Given the description of an element on the screen output the (x, y) to click on. 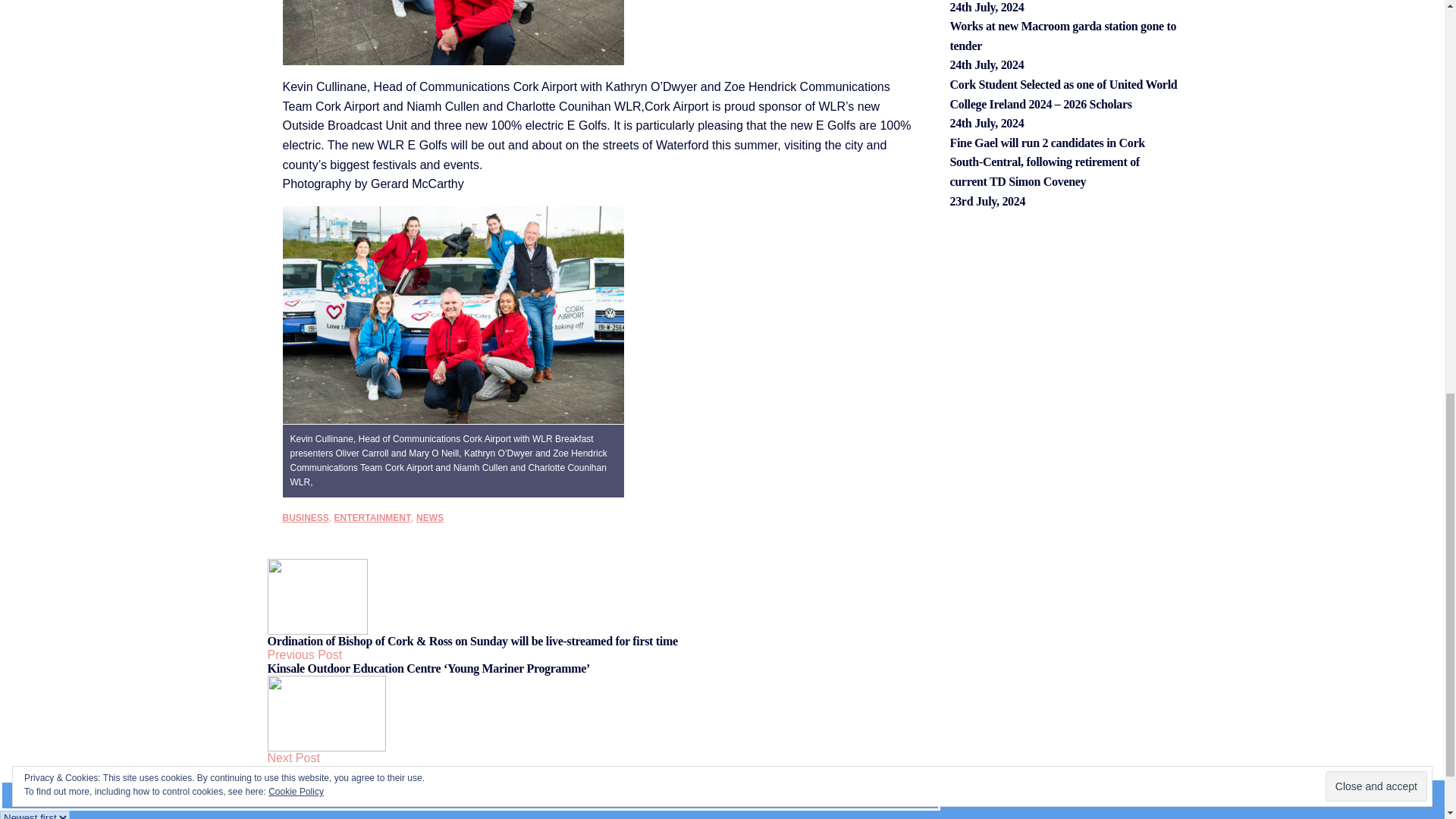
Type keyword to search (470, 795)
Type keyword to search (470, 795)
